Given the description of an element on the screen output the (x, y) to click on. 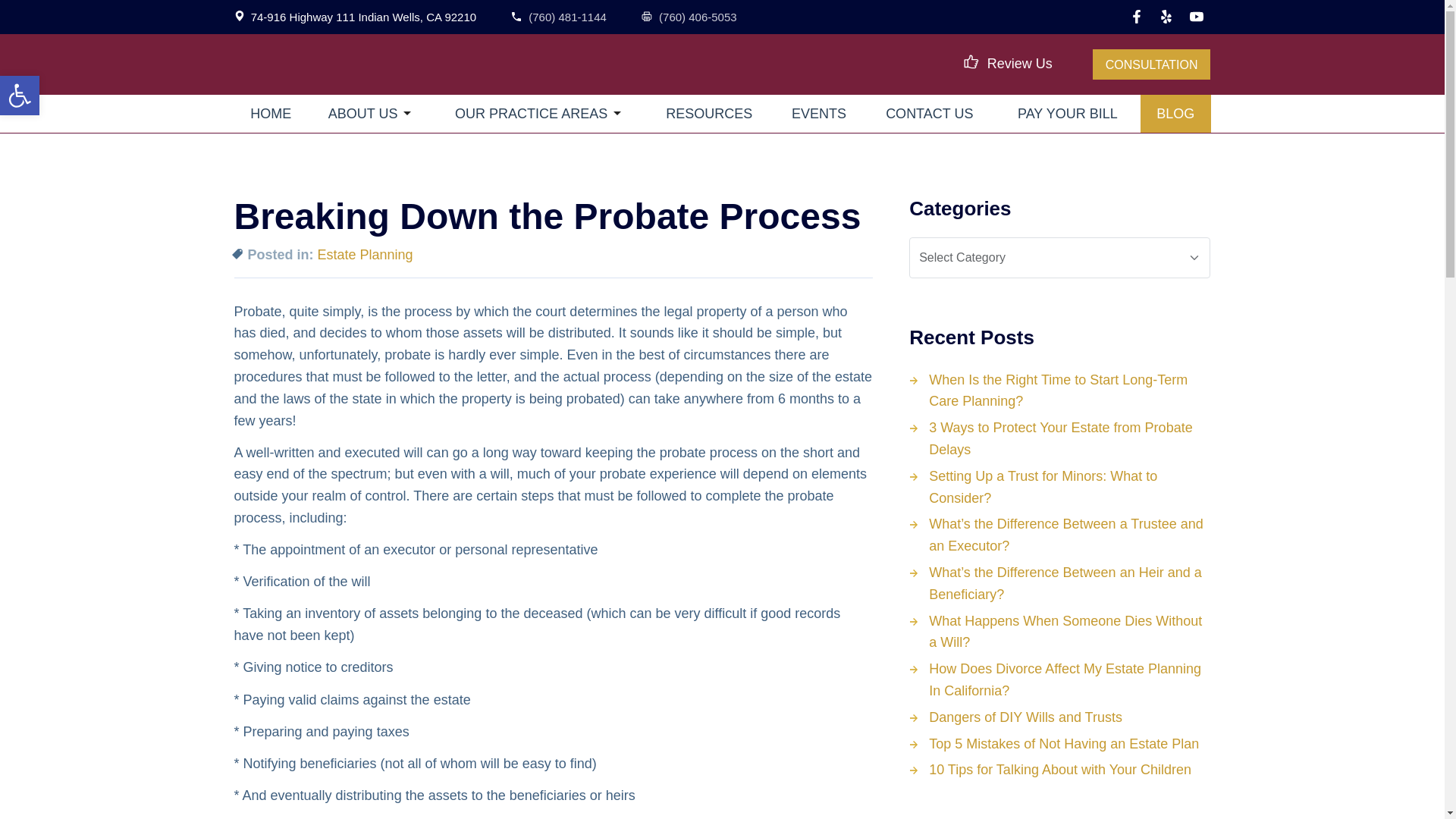
EVENTS (818, 113)
OUR PRACTICE AREAS (535, 113)
PAY YOUR BILL (1067, 113)
Accessibility Tools (19, 95)
CONTACT US (929, 113)
Review Us (1009, 63)
HOME (269, 113)
RESOURCES (709, 113)
BLOG (1175, 113)
CONSULTATION (1152, 64)
